Given the description of an element on the screen output the (x, y) to click on. 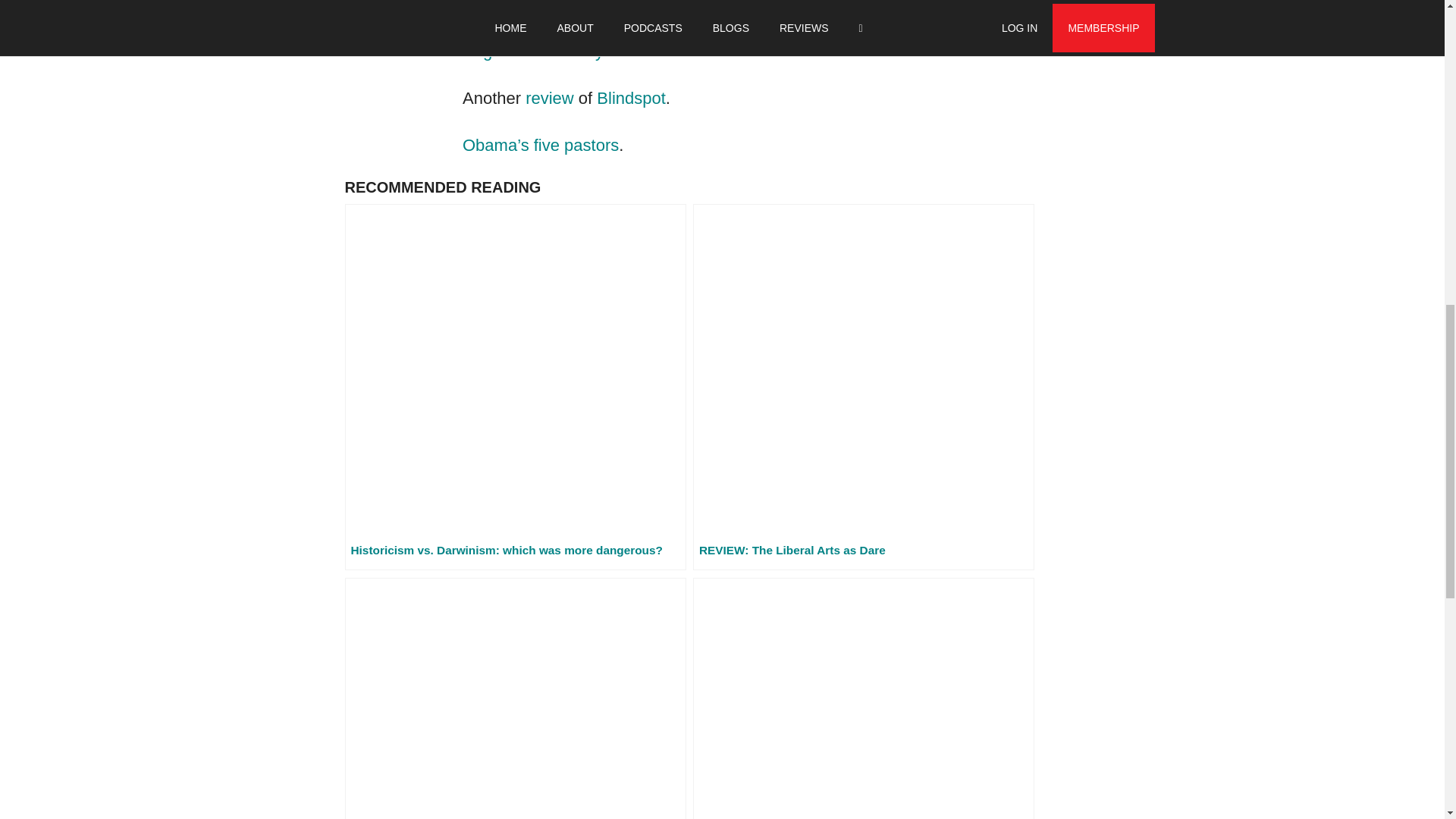
FORUM: The New Shape of Christian Public Discourse (863, 698)
review (549, 97)
Historicism vs. Darwinism: which was more dangerous? (514, 386)
Interview (496, 23)
FORUM: Reimagining a Misshapen Christian Public Discourse (514, 698)
REVIEW: The Liberal Arts as Dare (863, 386)
